Given the description of an element on the screen output the (x, y) to click on. 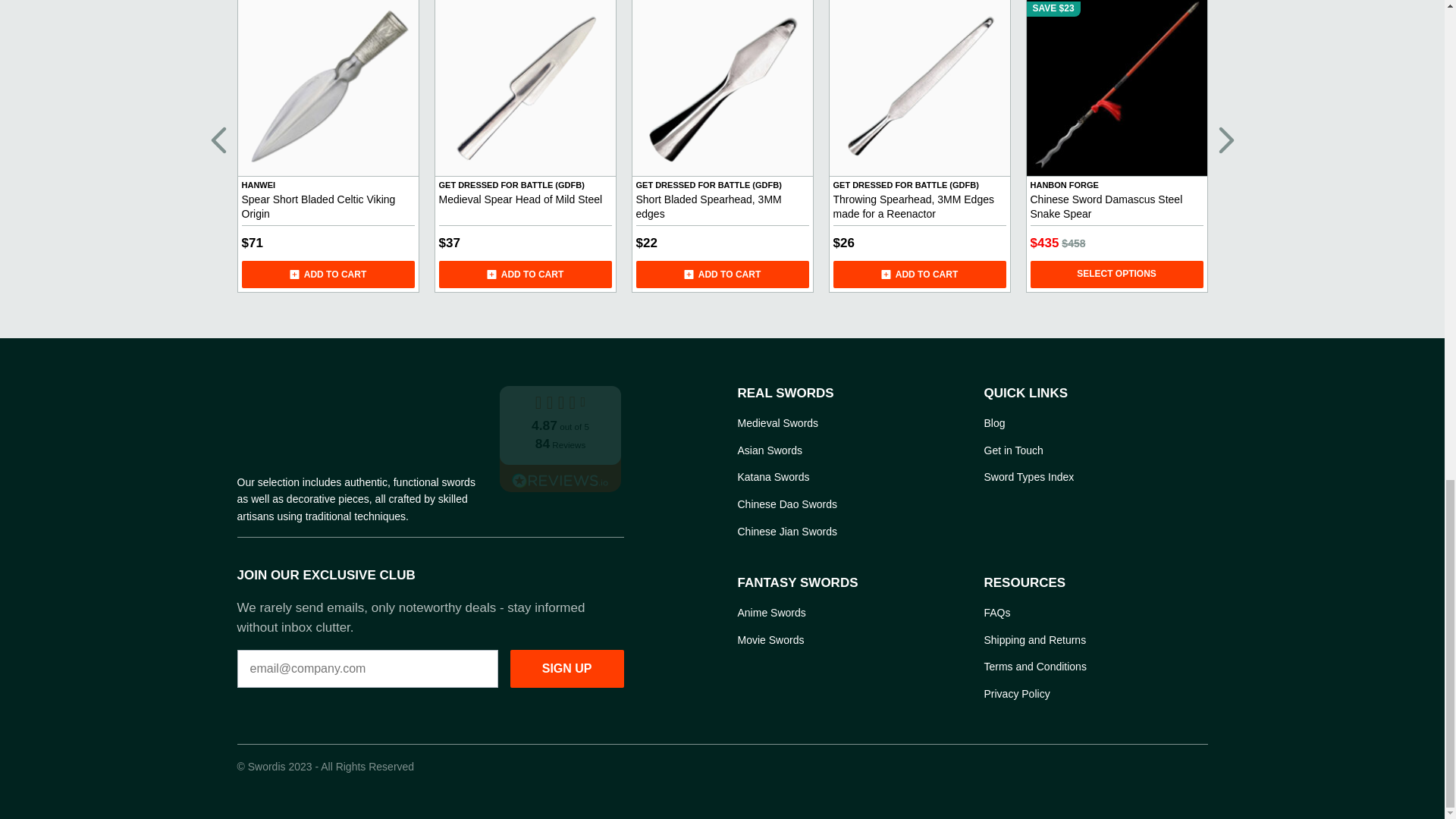
Reviews Badge Modern Widget (560, 438)
